Given the description of an element on the screen output the (x, y) to click on. 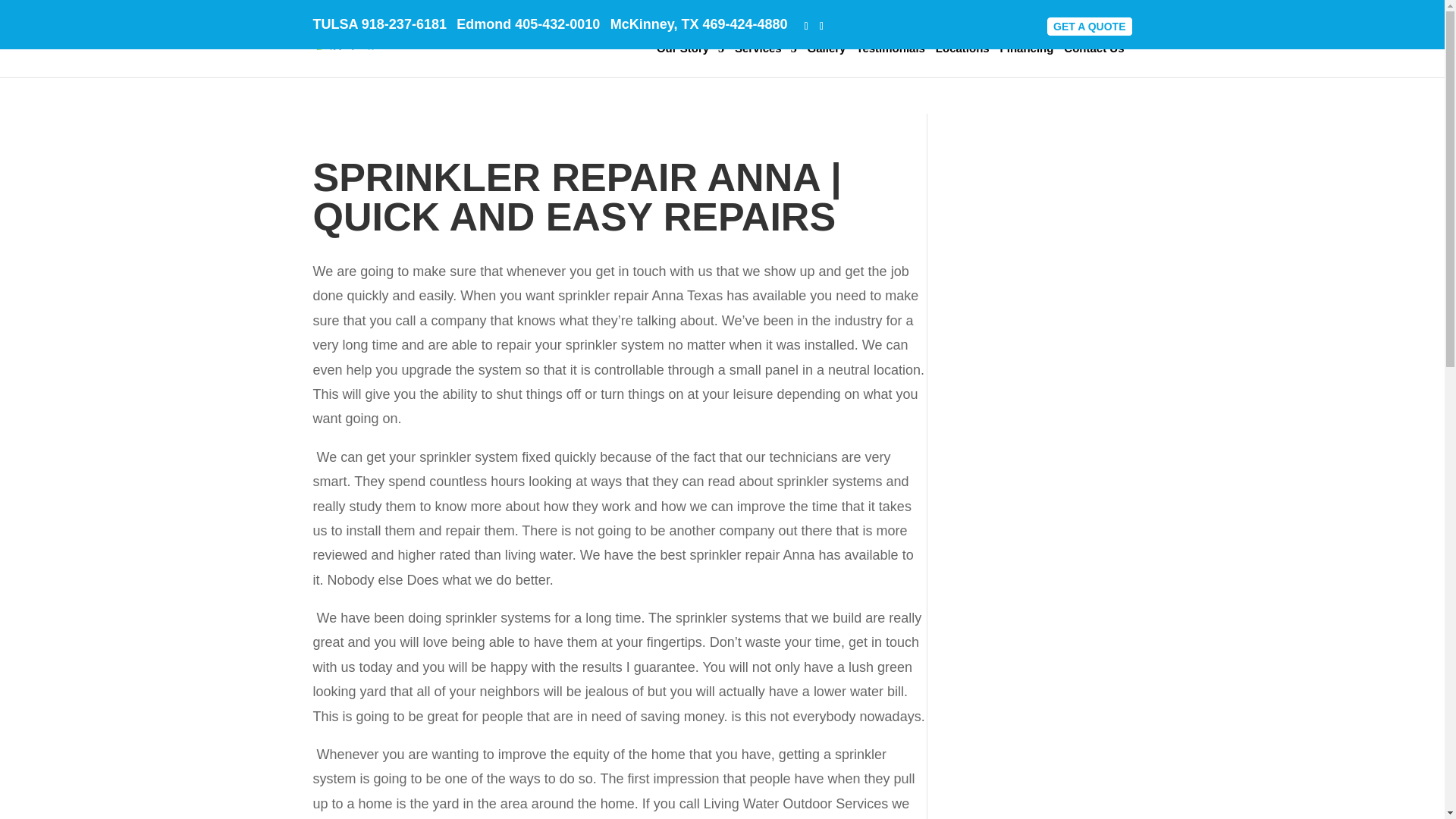
Locations (963, 57)
Submit (586, 673)
McKinney, TX 469-424-4880 (698, 24)
Testimonials (890, 57)
TULSA 918-237-6181 (379, 24)
Our Story (689, 57)
Financing (1027, 57)
Gallery (826, 57)
Contact Us (1094, 57)
CONTACT US (1091, 26)
